Given the description of an element on the screen output the (x, y) to click on. 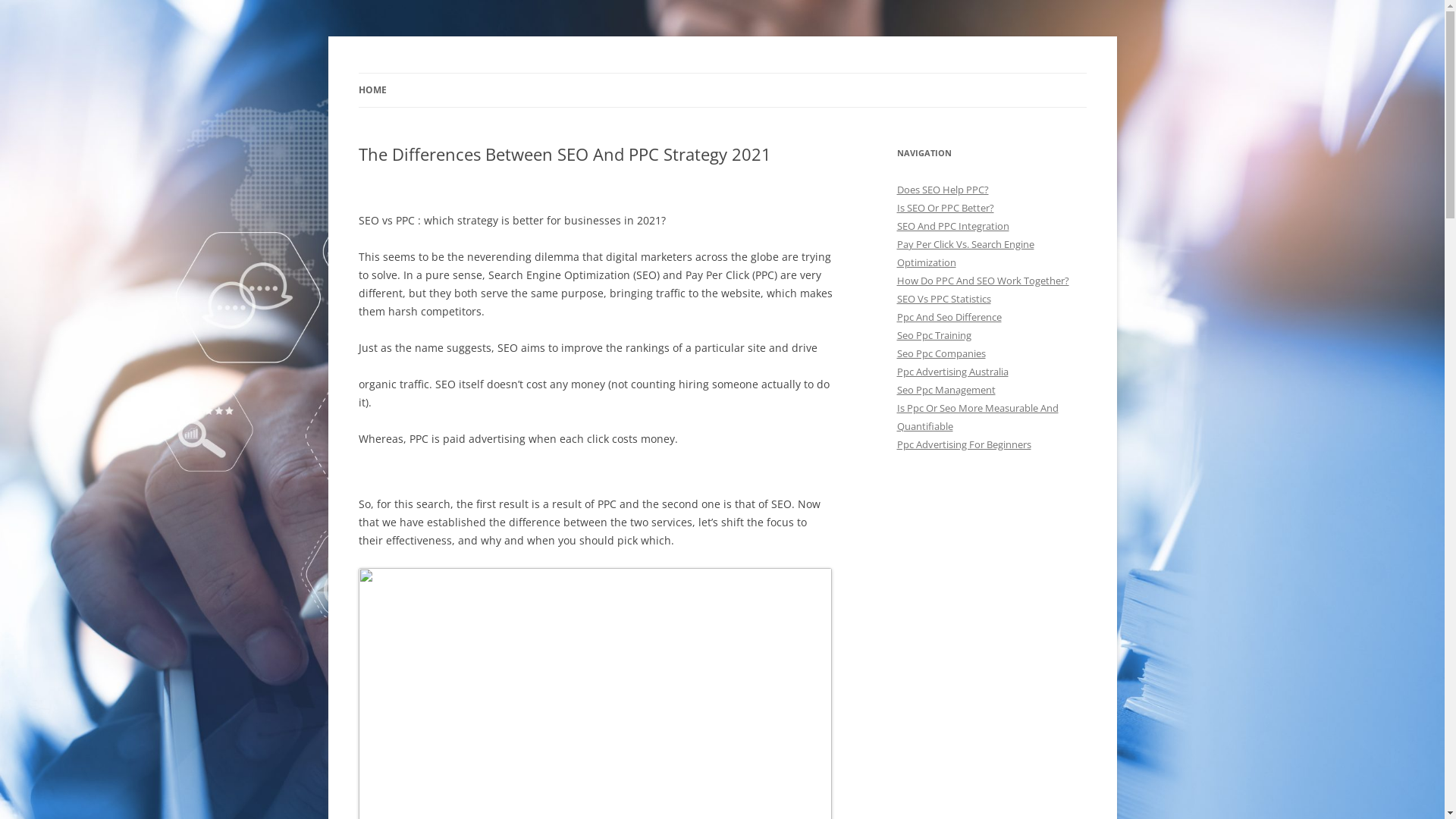
How Do PPC And SEO Work Together? Element type: text (982, 280)
Skip to content Element type: text (721, 72)
Ppc Advertising Australia Element type: text (951, 371)
Seo Ppc Companies Element type: text (940, 353)
Ppc And Seo Difference Element type: text (948, 316)
Seo Ppc Training Element type: text (933, 335)
Bella Vista SEO and PPC Agency Element type: text (511, 72)
Pay Per Click Vs. Search Engine Optimization Element type: text (964, 253)
Does SEO Help PPC? Element type: text (942, 189)
Ppc Advertising For Beginners Element type: text (963, 444)
Is Ppc Or Seo More Measurable And Quantifiable Element type: text (976, 417)
HOME Element type: text (371, 89)
SEO Vs PPC Statistics Element type: text (943, 298)
Seo Ppc Management Element type: text (945, 389)
Is SEO Or PPC Better? Element type: text (944, 207)
SEO And PPC Integration Element type: text (952, 225)
